Given the description of an element on the screen output the (x, y) to click on. 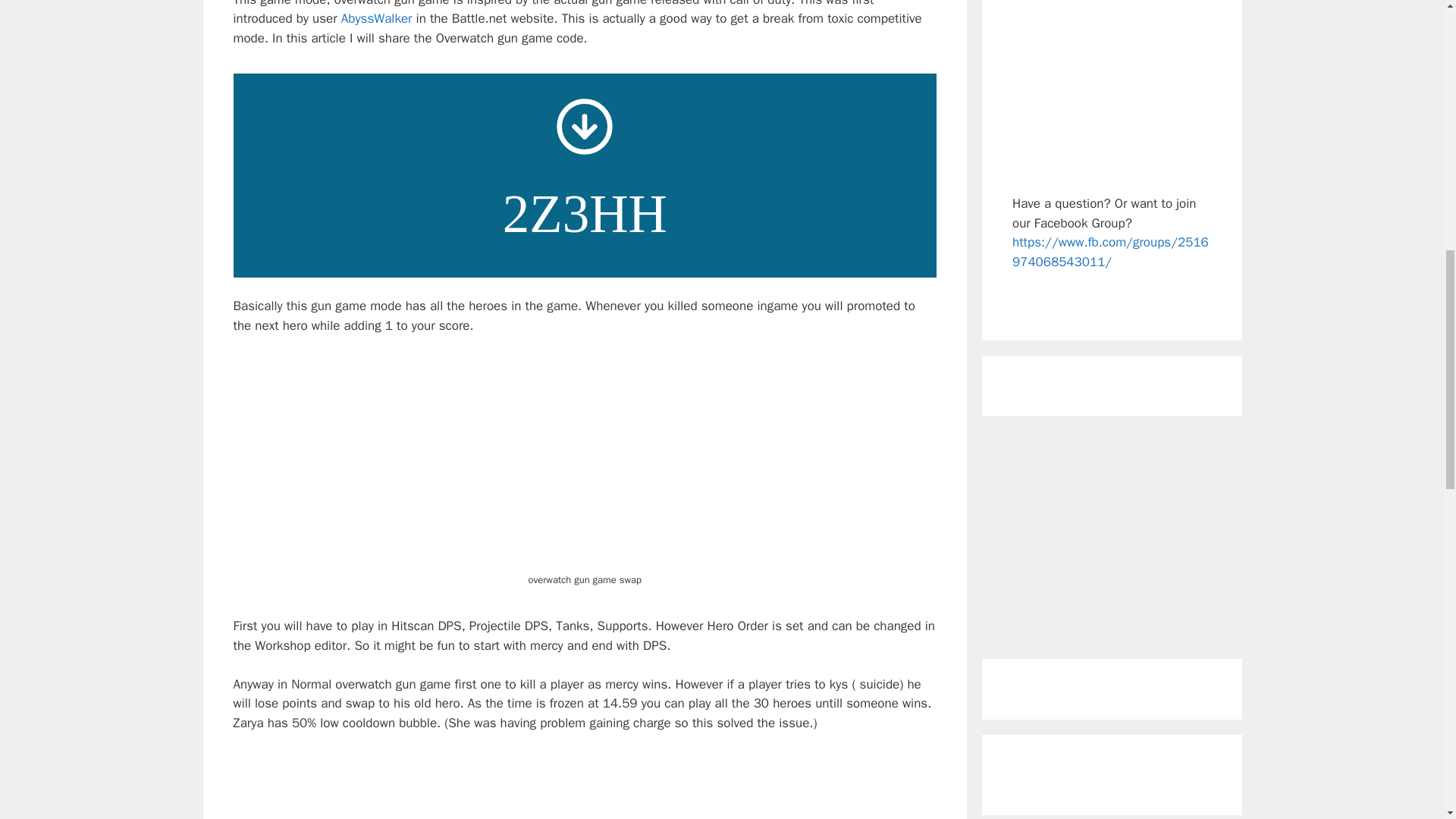
Advertisement (584, 785)
Advertisement (1111, 89)
Advertisement (1111, 537)
AbyssWalker (378, 18)
